Given the description of an element on the screen output the (x, y) to click on. 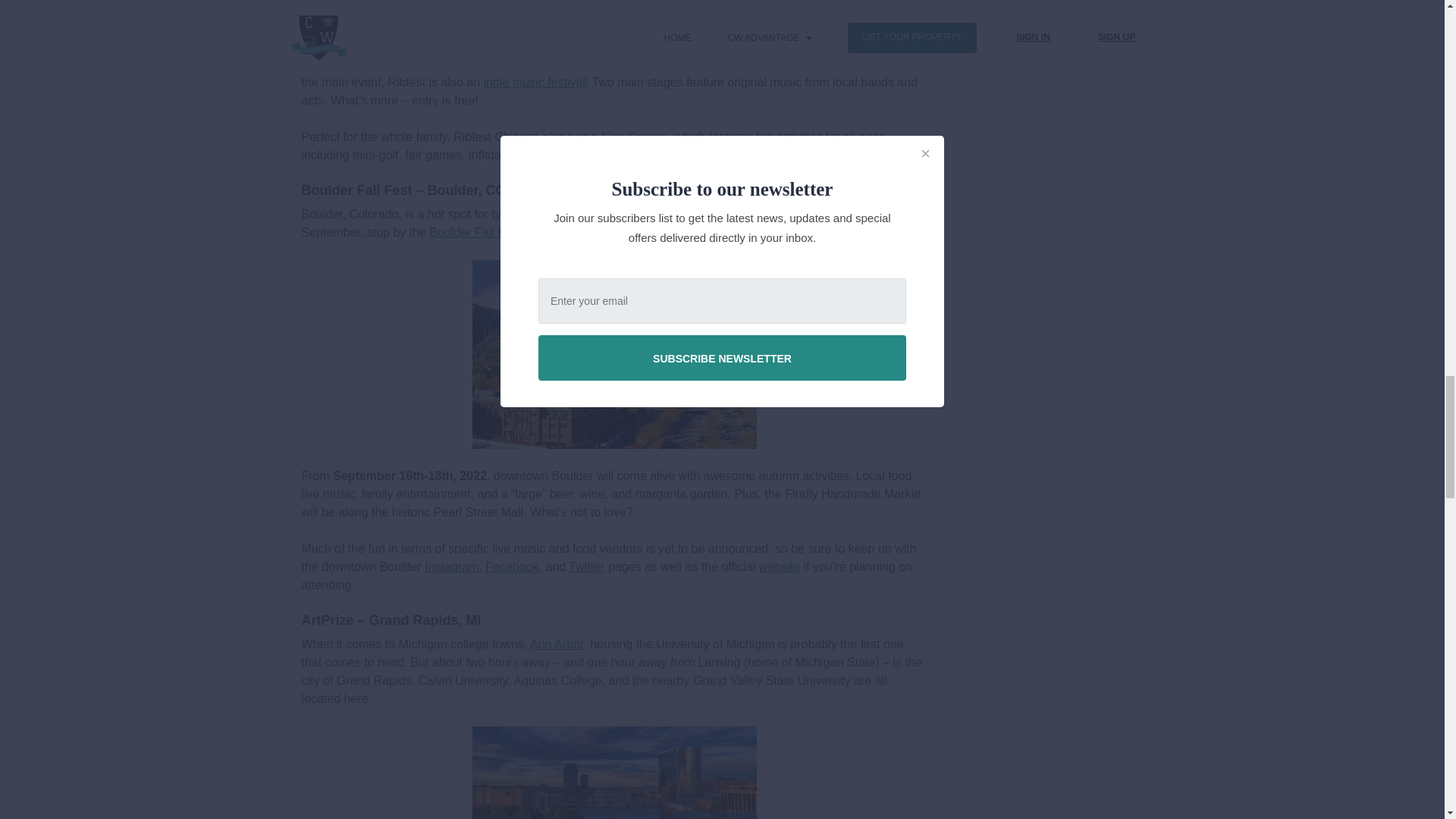
indie music festival (534, 82)
Kids Square (633, 136)
Facebook (511, 566)
Instagram (452, 566)
Boulder Fall Fest (475, 232)
